Given the description of an element on the screen output the (x, y) to click on. 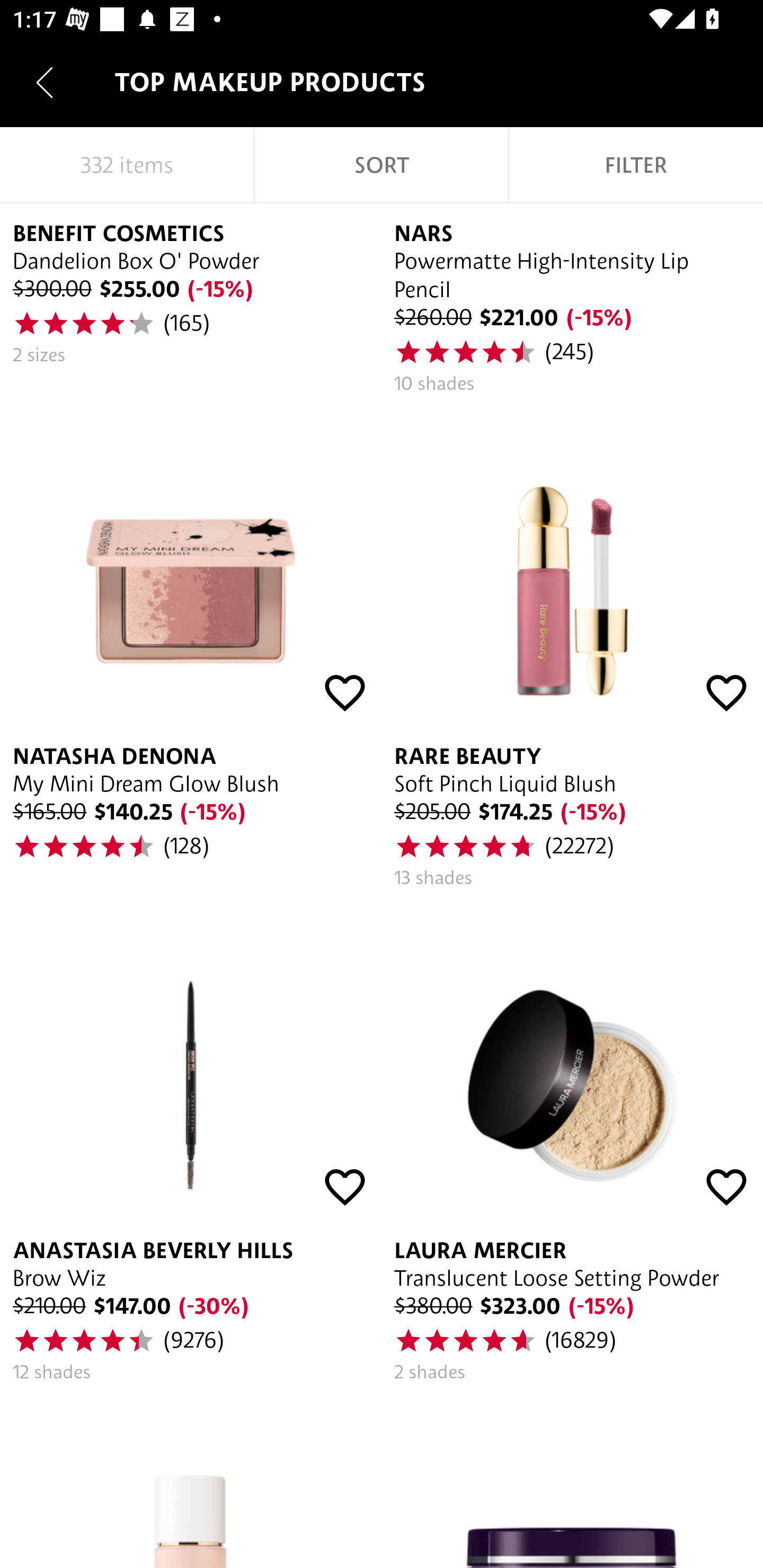
Navigate up (44, 82)
SORT (381, 165)
FILTER (636, 165)
